Given the description of an element on the screen output the (x, y) to click on. 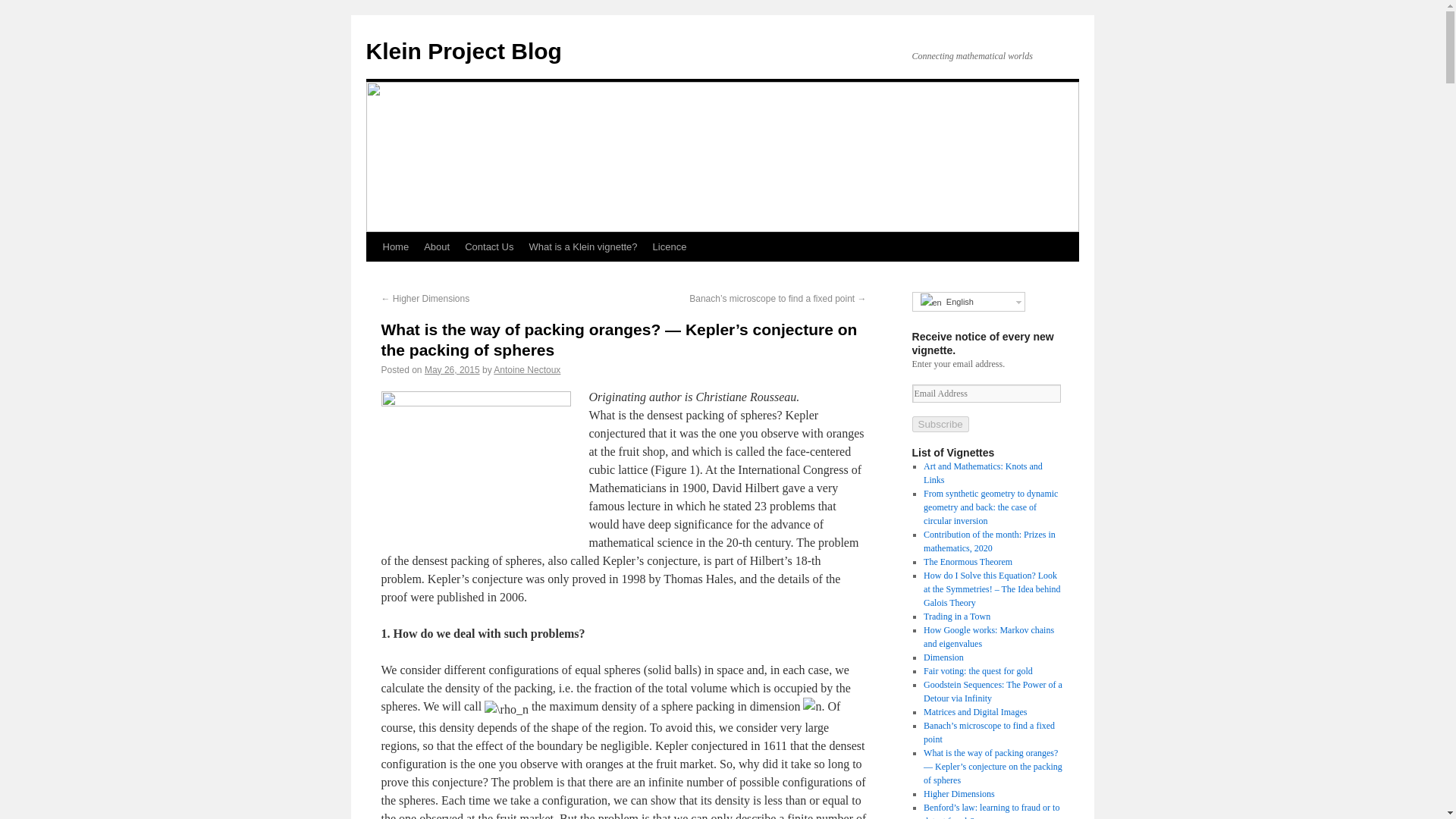
Oranges2.png (475, 466)
Rendered by QuickLaTeX.com (506, 710)
Klein Project Blog (462, 50)
Licence (669, 246)
Rendered by QuickLaTeX.com (812, 706)
View all posts by Antoine Nectoux (526, 369)
May 26, 2015 (452, 369)
About (436, 246)
Home (395, 246)
Klein Project Blog (462, 50)
What is a Klein vignette? (583, 246)
Contact Us (489, 246)
Antoine Nectoux (526, 369)
2:12 am (452, 369)
 English (968, 301)
